Given the description of an element on the screen output the (x, y) to click on. 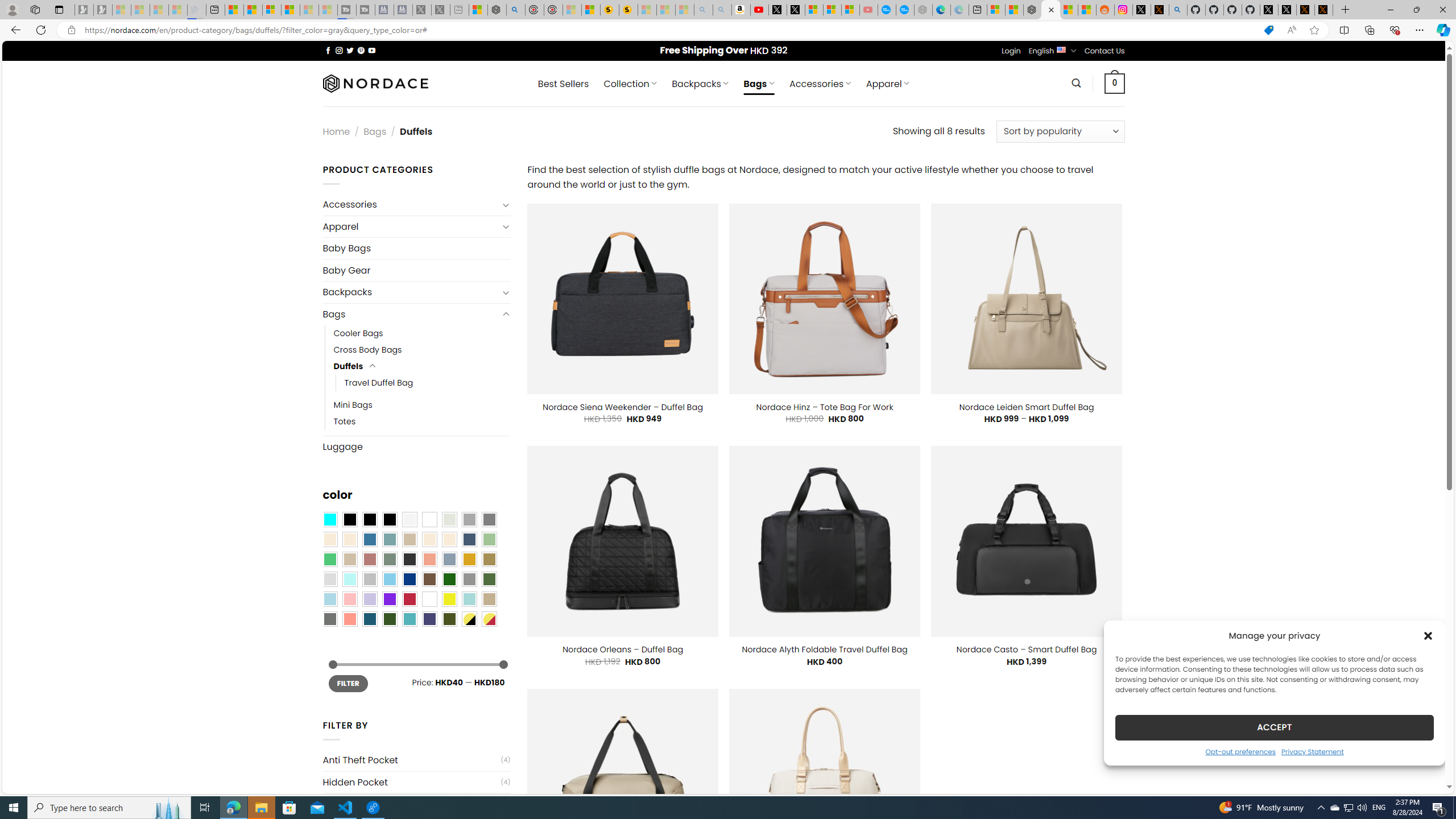
Yellow-Black (468, 618)
Nordace - Duffels (1050, 9)
Baby Bags (416, 248)
Aqua (468, 599)
Cross Body Bags (422, 349)
Overview (271, 9)
Brown (429, 579)
ACCEPT (1274, 727)
poe - Search (515, 9)
  0   (1115, 83)
Light Green (488, 539)
Accessories (410, 204)
